Given the description of an element on the screen output the (x, y) to click on. 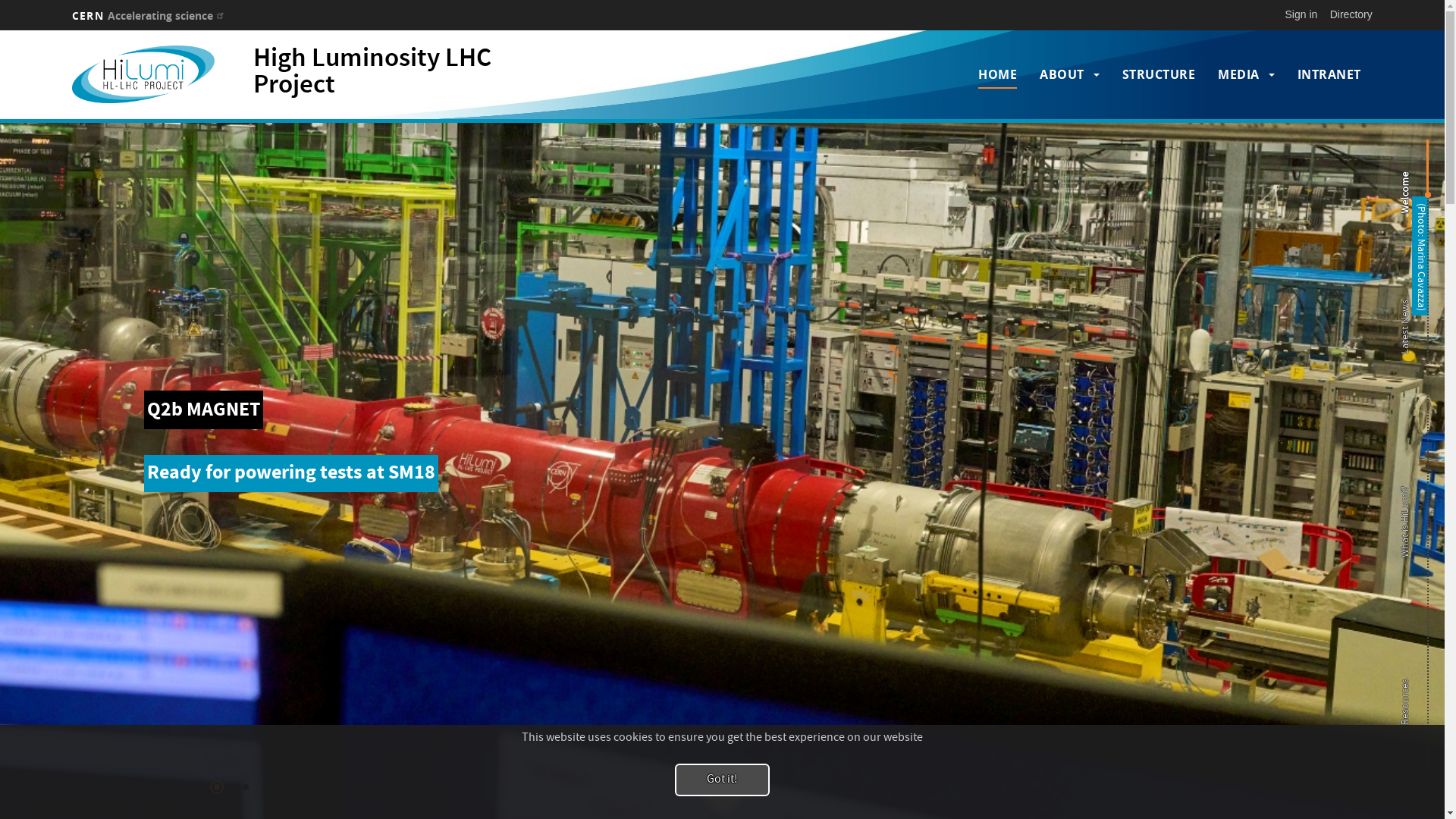
Directory Element type: text (1351, 14)
Sign in Element type: text (1301, 14)
ABOUT Element type: text (1061, 74)
INTRANET Element type: text (1329, 74)
HOME Element type: text (997, 74)
Got it! Element type: text (721, 779)
Welcome Element type: text (1425, 173)
STRUCTURE Element type: text (1158, 74)
CERN Accelerating science (link is external) Element type: text (149, 14)
MEDIA Element type: text (1238, 74)
High Luminosity LHC Project Element type: text (372, 72)
Skip to main content Element type: text (0, 30)
Home Element type: hover (149, 74)
